Given the description of an element on the screen output the (x, y) to click on. 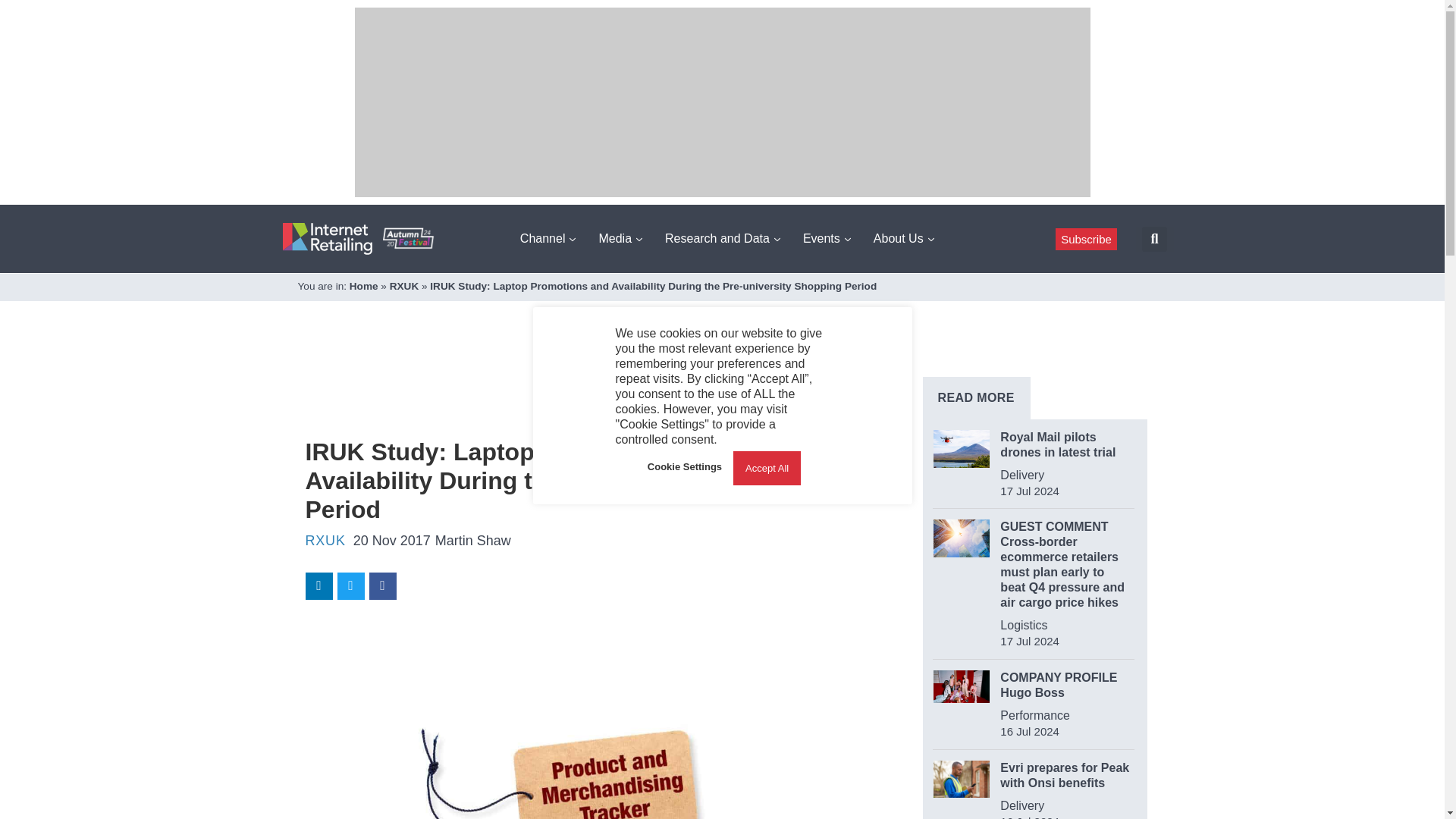
Media (620, 238)
3rd party ad content (580, 387)
Channel (547, 238)
Research and Data (722, 238)
